Given the description of an element on the screen output the (x, y) to click on. 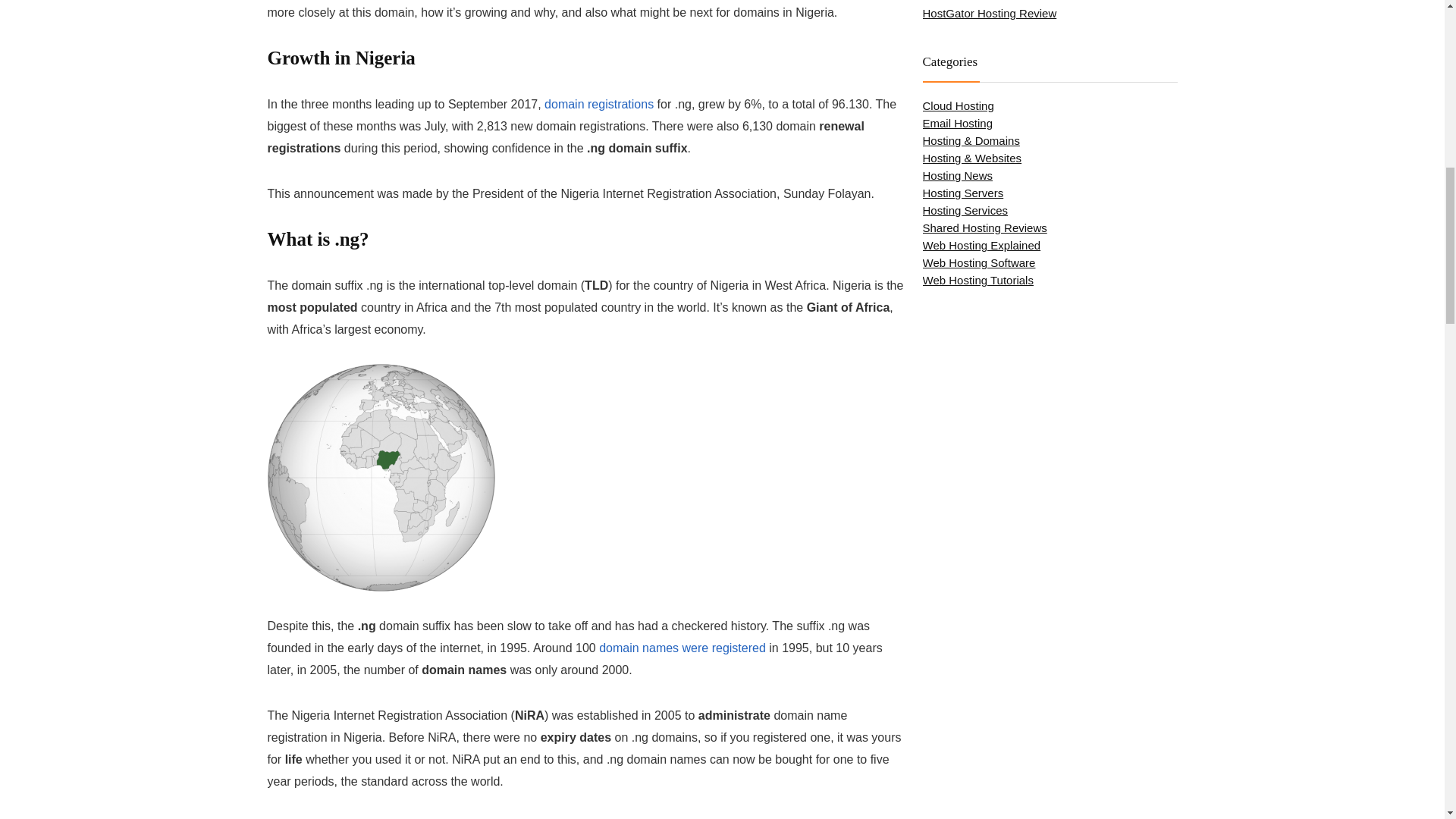
domain registrations (598, 103)
domain names were registered (681, 647)
NameCheap Domains SaS (598, 103)
